Given the description of an element on the screen output the (x, y) to click on. 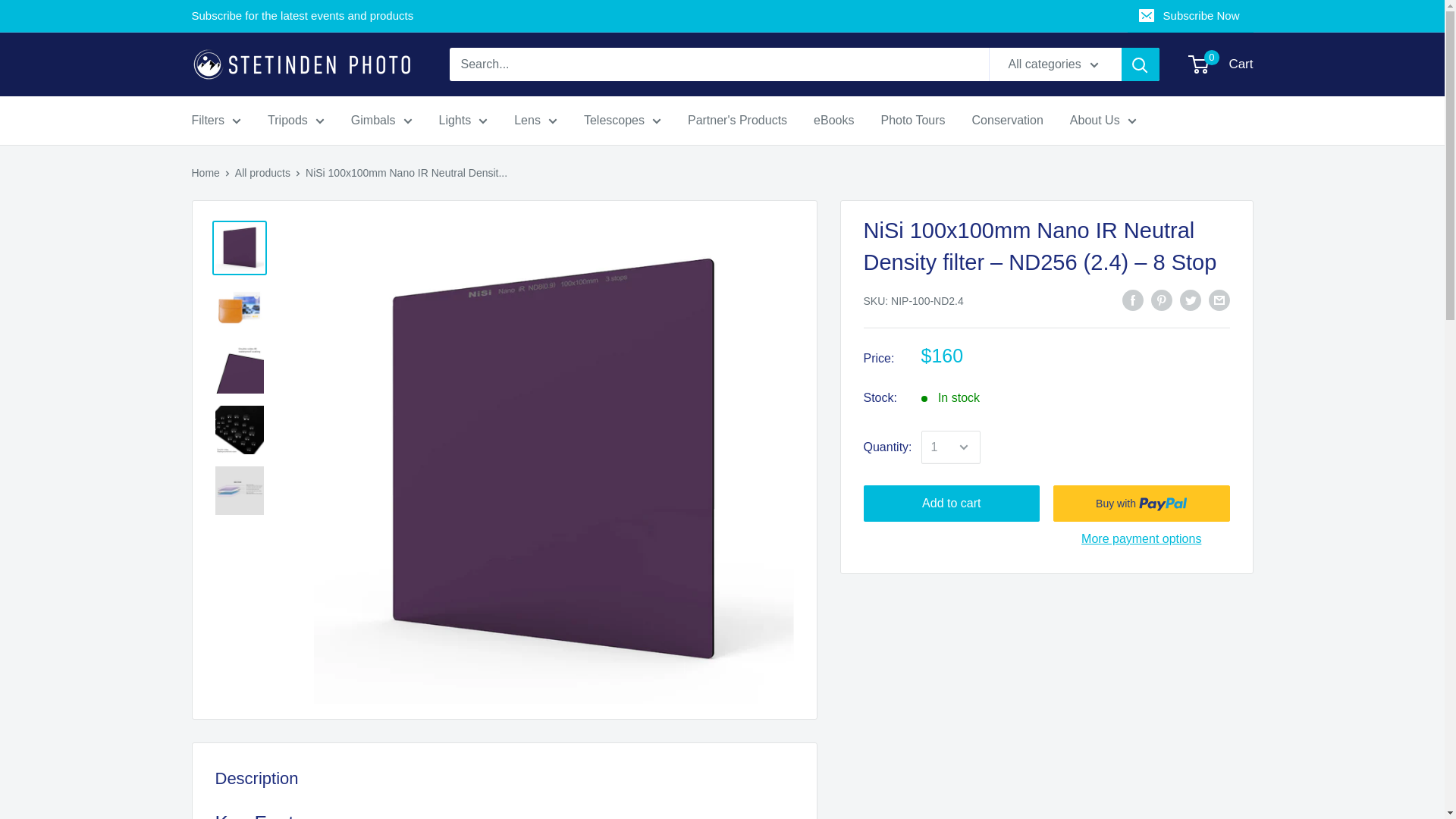
Subscribe Now (1189, 15)
